Given the description of an element on the screen output the (x, y) to click on. 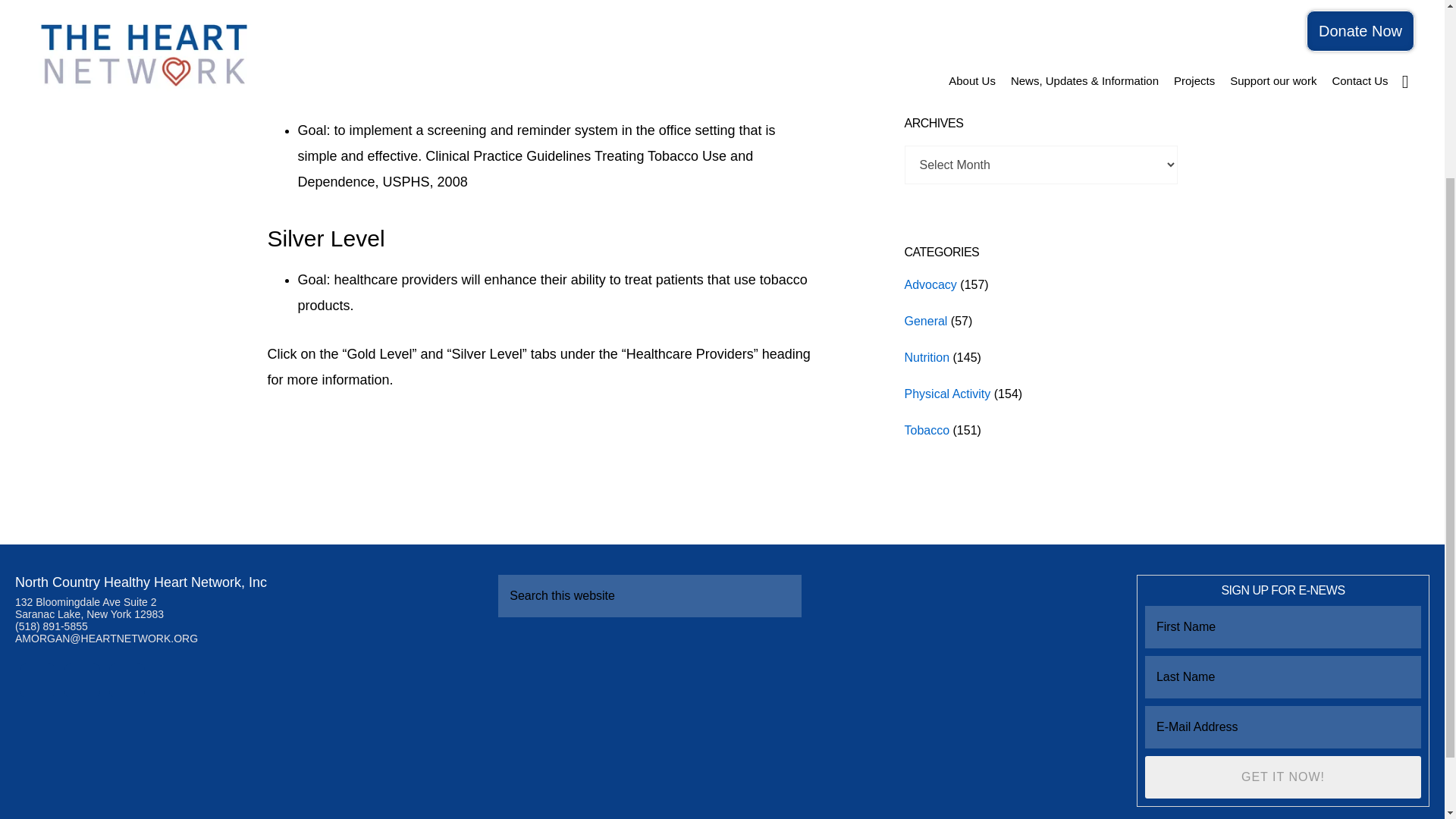
Physical Activity (947, 393)
Suloff Designs (870, 547)
Suloff Designs (870, 547)
In the news (937, 5)
General (925, 320)
GET IT NOW! (1282, 776)
Tobacco (926, 430)
GET IT NOW! (1282, 776)
Advocacy (930, 284)
Nutrition (926, 357)
Happenings (937, 42)
